Given the description of an element on the screen output the (x, y) to click on. 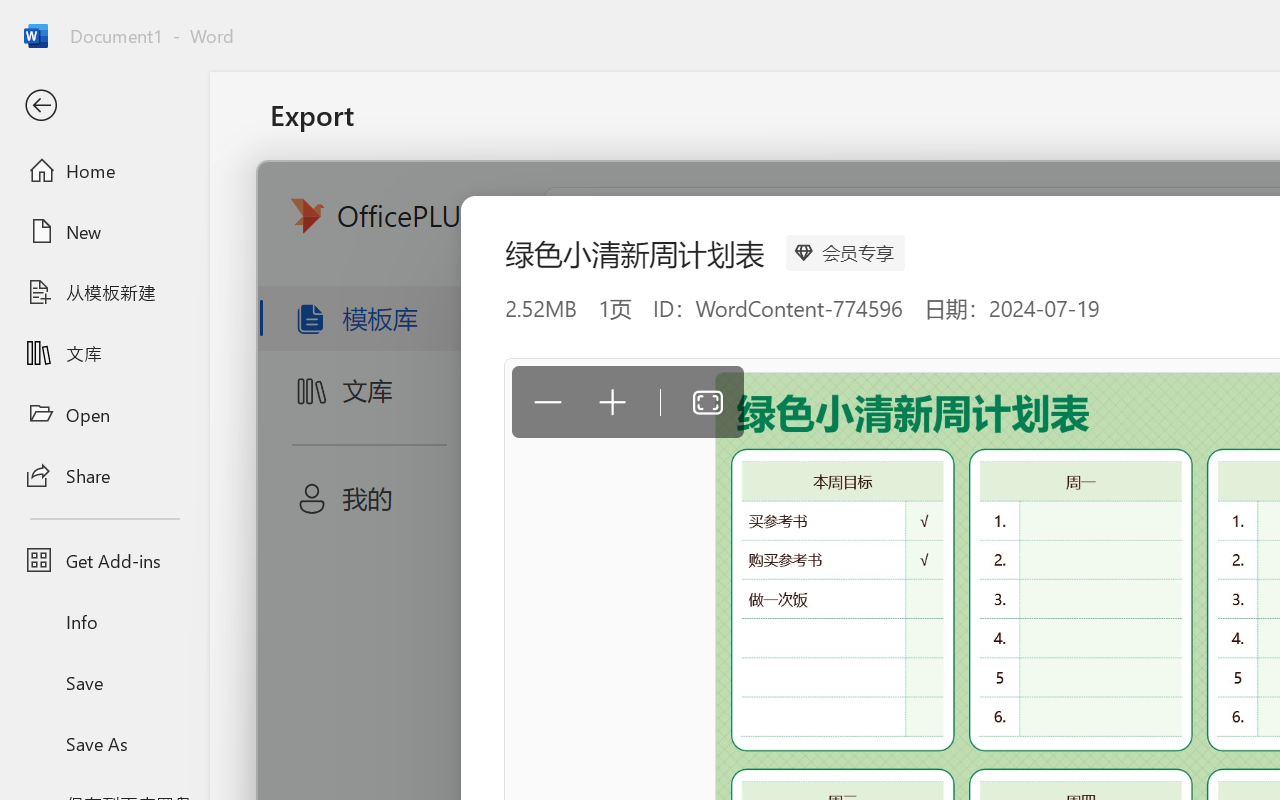
Back (104, 106)
Info (104, 621)
Save As (104, 743)
New (104, 231)
Get Add-ins (104, 560)
